Given the description of an element on the screen output the (x, y) to click on. 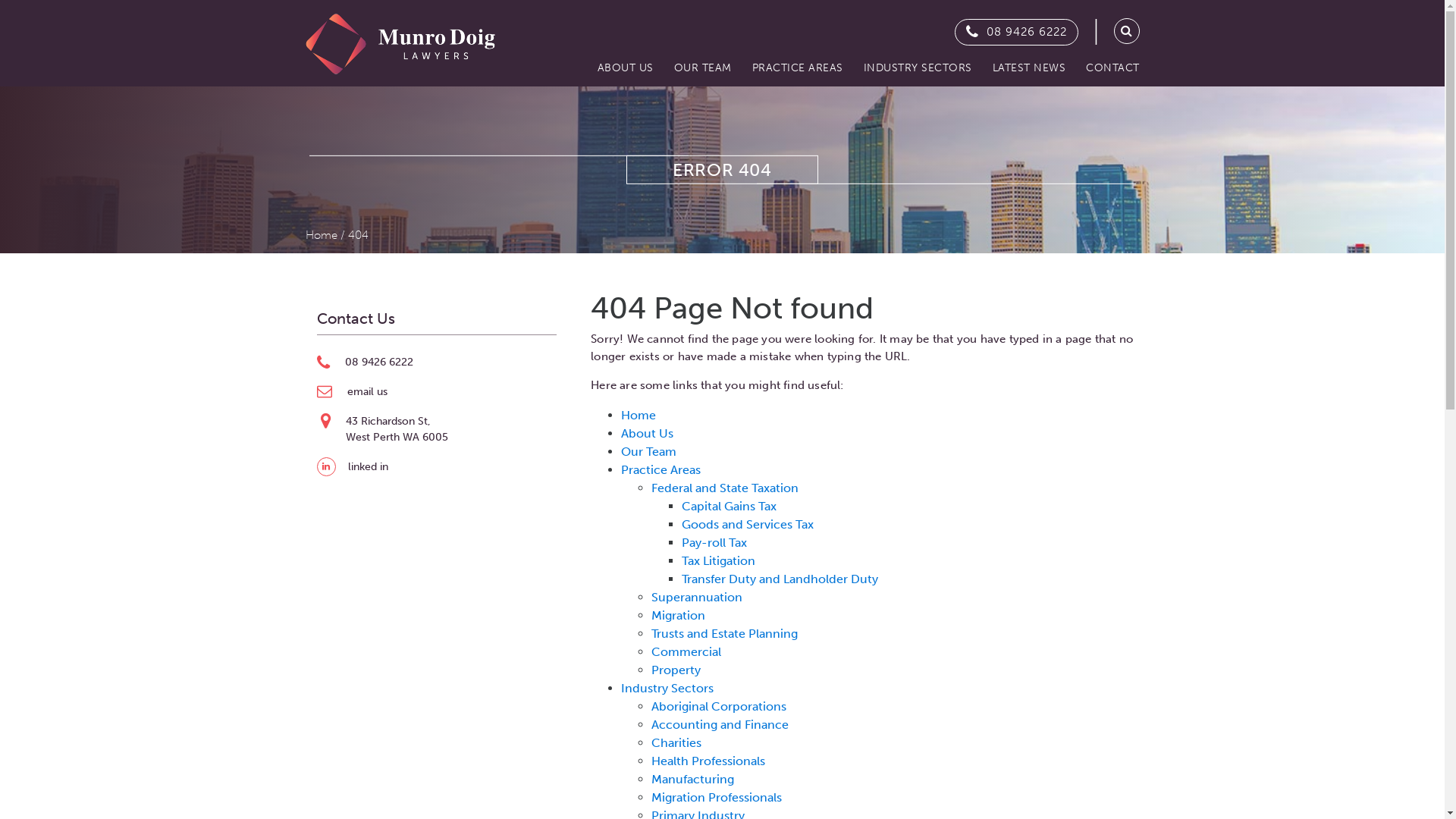
Transfer Duty and Landholder Duty Element type: text (779, 579)
OUR TEAM Element type: text (701, 68)
08 9426 6222 Element type: text (1025, 31)
Munro Doig Element type: hover (399, 35)
Munro Doig Lawyers Element type: hover (399, 43)
Federal and State Taxation Element type: text (724, 488)
ABOUT US Element type: text (625, 68)
Industry Sectors Element type: text (667, 688)
LATEST NEWS Element type: text (1027, 68)
About Us Element type: text (647, 433)
Migration Element type: text (678, 615)
email us Element type: text (367, 391)
Migration Professionals Element type: text (716, 797)
linked in Element type: text (367, 466)
Home Element type: text (638, 415)
Home Element type: text (320, 234)
Goods and Services Tax Element type: text (747, 524)
Practice Areas Element type: text (660, 470)
Commercial Element type: text (686, 652)
Health Professionals Element type: text (708, 761)
Capital Gains Tax Element type: text (728, 506)
Superannuation Element type: text (696, 597)
Trusts and Estate Planning Element type: text (724, 633)
Accounting and Finance Element type: text (719, 724)
Tax Litigation Element type: text (718, 561)
CONTACT Element type: text (1107, 68)
Aboriginal Corporations Element type: text (718, 706)
Charities Element type: text (676, 743)
Our Team Element type: text (648, 451)
Pay-roll Tax Element type: text (713, 542)
Property Element type: text (675, 670)
INDUSTRY SECTORS Element type: text (916, 68)
Manufacturing Element type: text (692, 779)
PRACTICE AREAS Element type: text (797, 68)
